Given the description of an element on the screen output the (x, y) to click on. 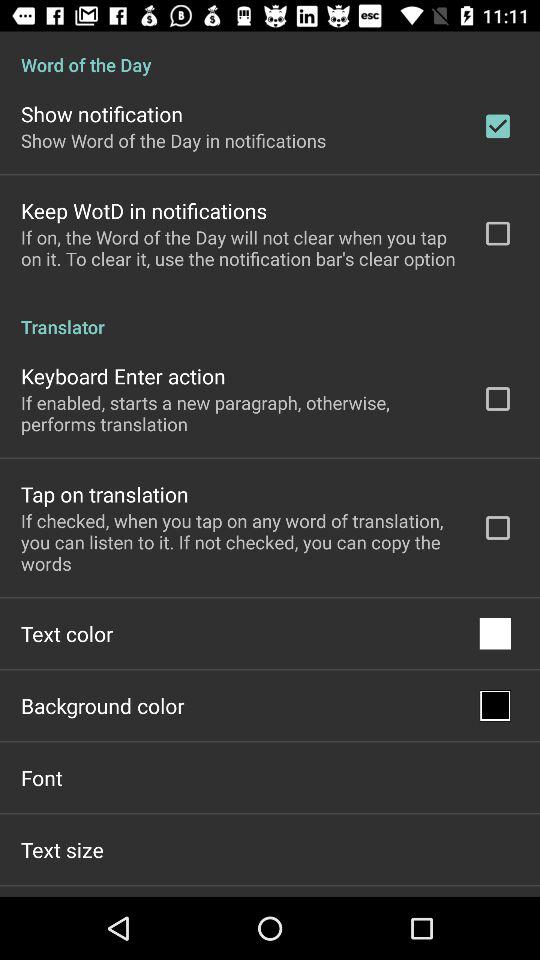
swipe until text size (62, 849)
